Given the description of an element on the screen output the (x, y) to click on. 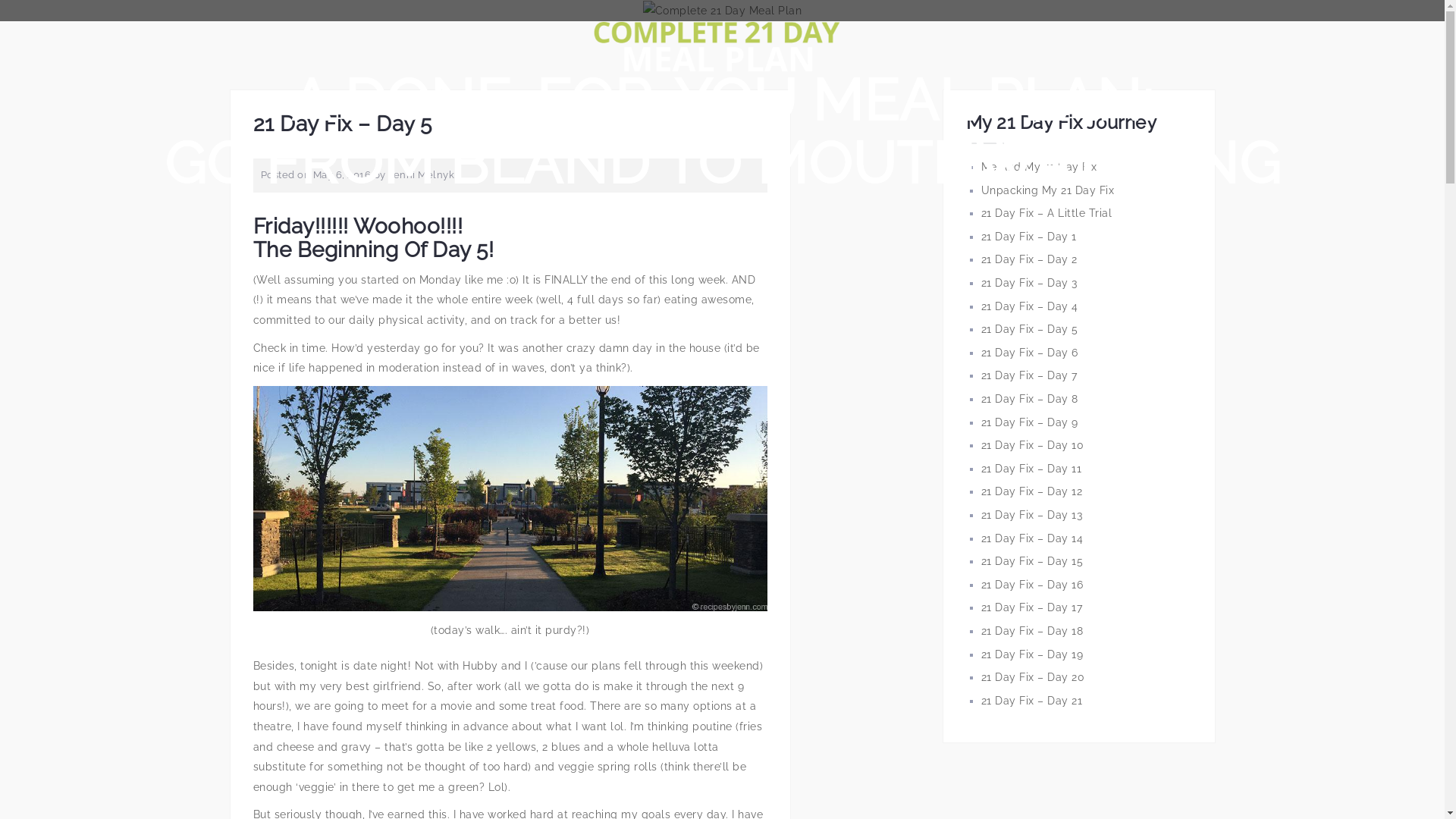
May 6, 2016 Element type: text (341, 174)
Unpacking My 21 Day Fix Element type: text (1047, 190)
Me And My 21 Day Fix Element type: text (1039, 166)
Complete 21 Day Meal Plan Element type: hover (716, 40)
Search Element type: text (42, 20)
Jenni Melnyk Element type: text (421, 174)
